Given the description of an element on the screen output the (x, y) to click on. 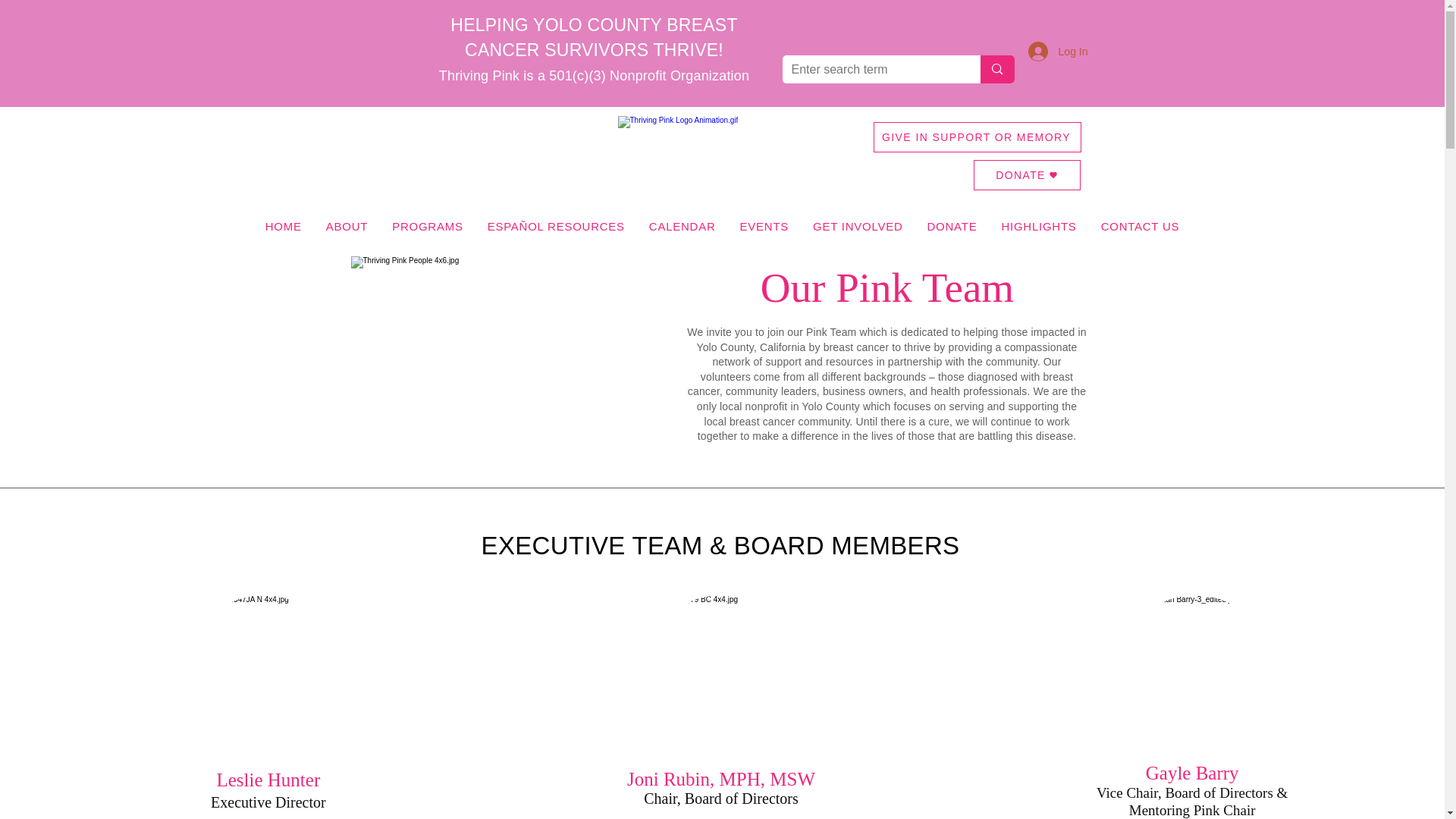
Log In (1058, 51)
guy4.jpg (1194, 677)
DONATE (1027, 174)
HOME (283, 225)
guy4.jpg (264, 677)
GIVE IN SUPPORT OR MEMORY (977, 137)
CONTACT US (1140, 225)
guy2.jpg (720, 677)
CALENDAR (682, 225)
